Given the description of an element on the screen output the (x, y) to click on. 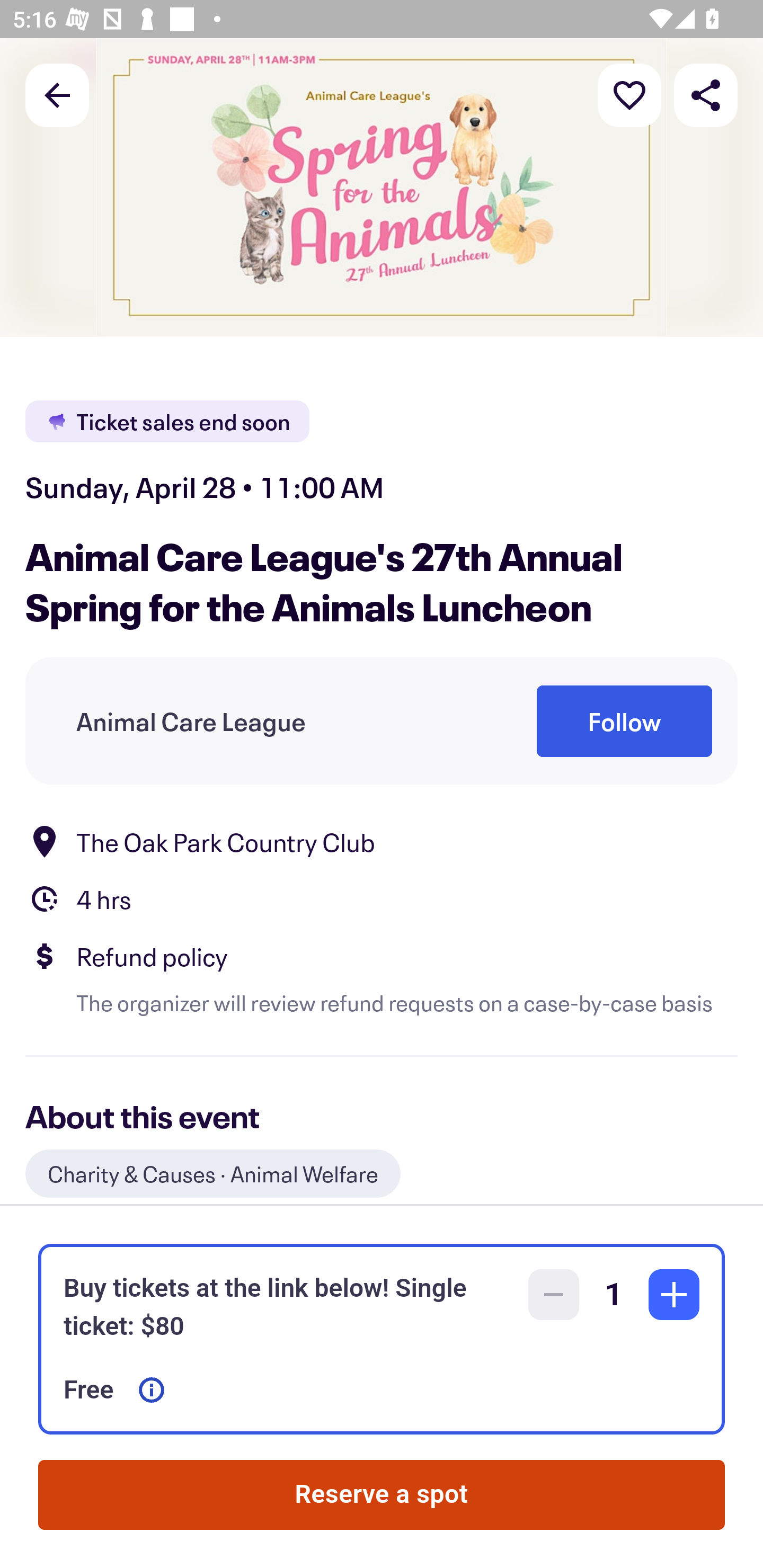
Back (57, 94)
More (629, 94)
Share (705, 94)
Animal Care League (190, 720)
Follow (623, 720)
Location The Oak Park Country Club (381, 840)
